Given the description of an element on the screen output the (x, y) to click on. 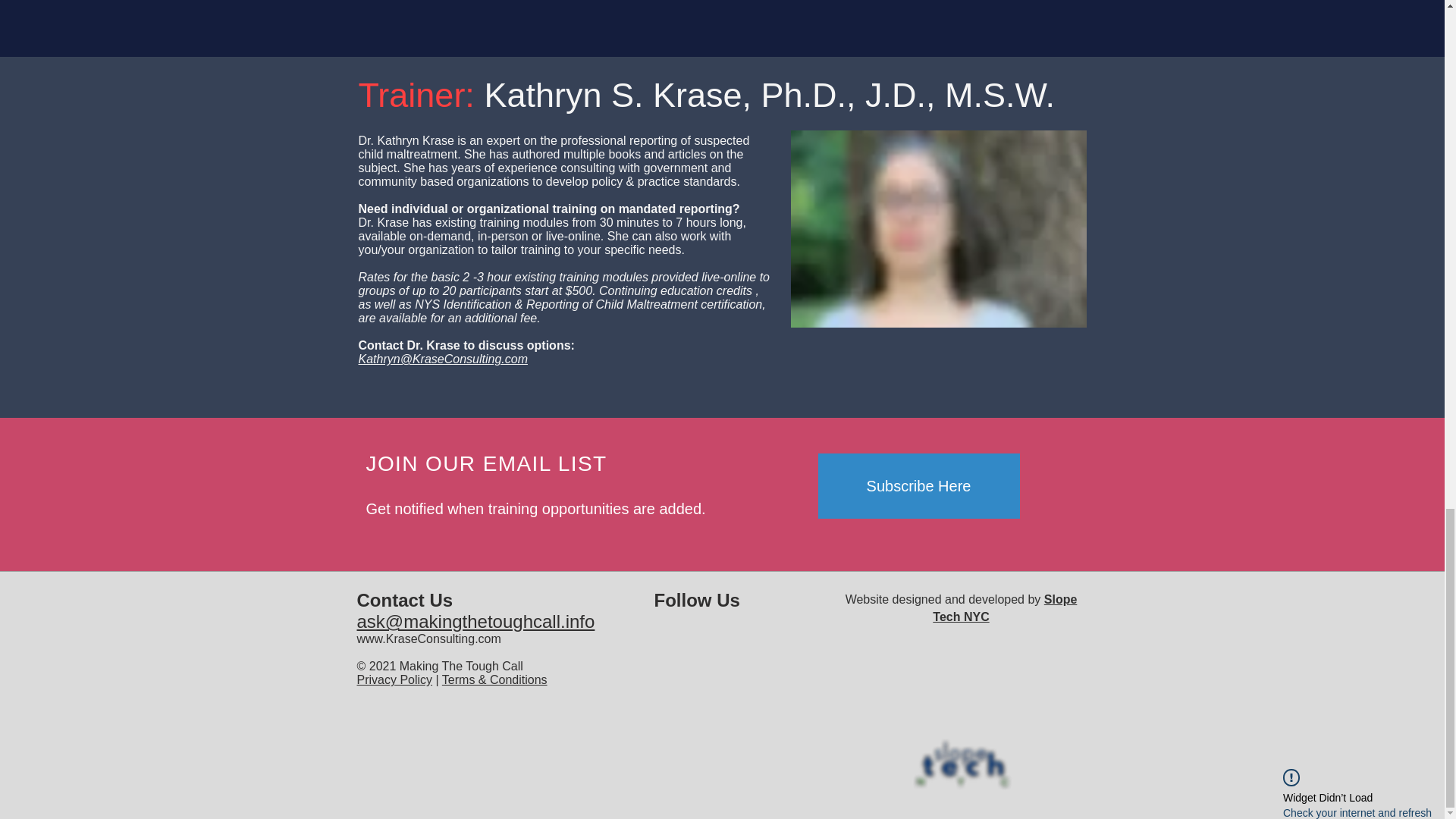
Privacy Policy (394, 679)
www.KraseConsulting.com (428, 638)
Slope Tech NYC (1005, 607)
Subscribe Here (917, 485)
